Given the description of an element on the screen output the (x, y) to click on. 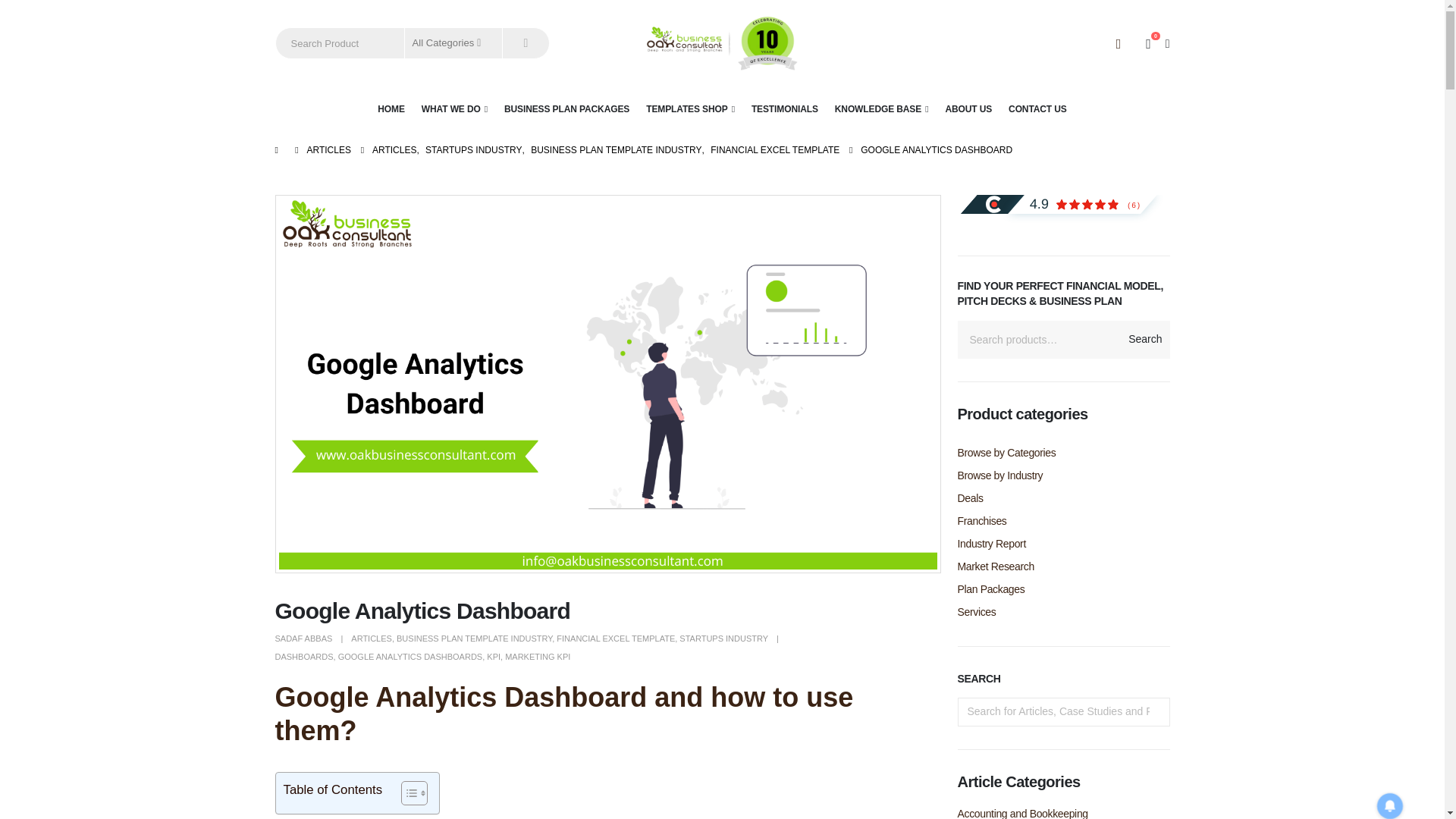
WHAT WE DO (454, 108)
My Account (1117, 44)
Posts by Sadaf Abbas (303, 637)
HOME (390, 108)
Search (525, 42)
